Given the description of an element on the screen output the (x, y) to click on. 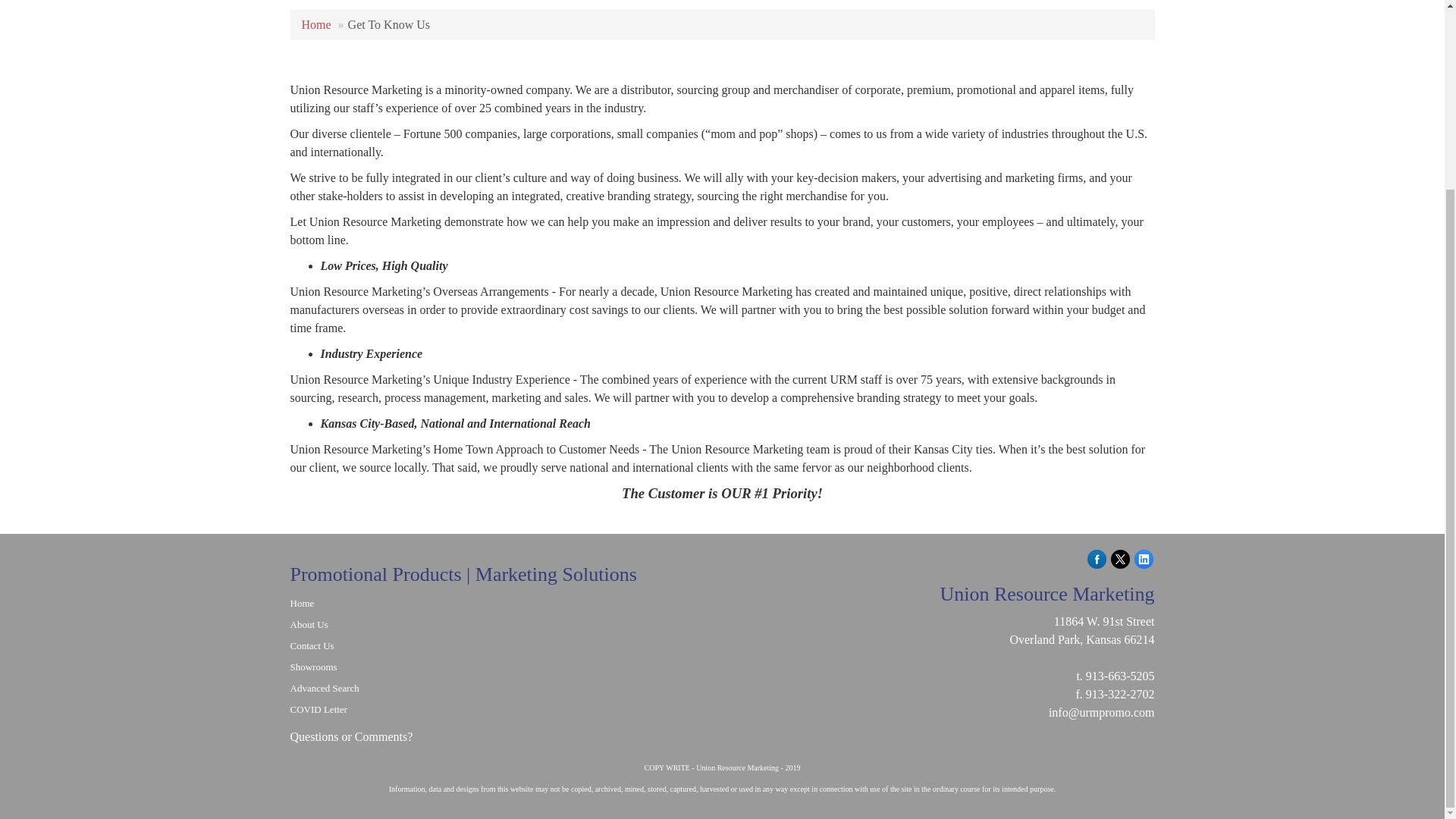
Visit us on Facebook (1096, 557)
Visit us on Twitter (1119, 557)
Visit us on LinkedIn (1143, 557)
